Given the description of an element on the screen output the (x, y) to click on. 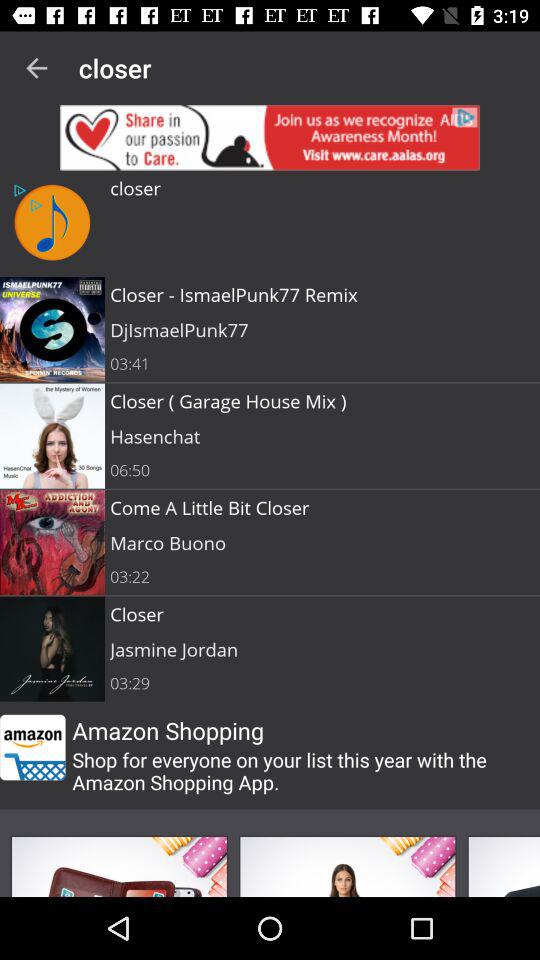
advertisement page (119, 866)
